Given the description of an element on the screen output the (x, y) to click on. 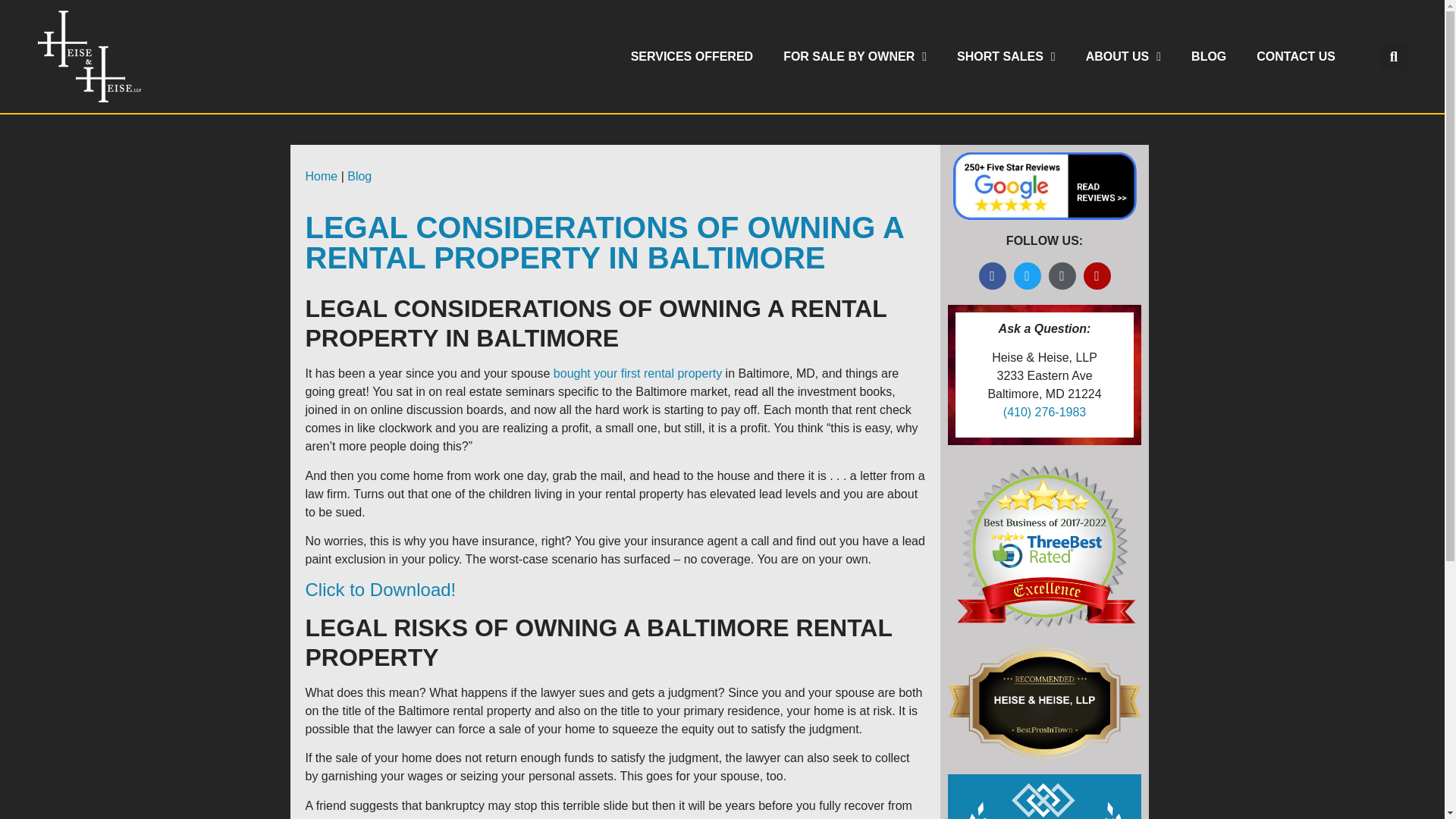
bought your first rental property (637, 373)
Home (320, 175)
FOR SALE BY OWNER (855, 56)
SHORT SALES (1006, 56)
Click to Download! (379, 589)
CONTACT US (1296, 56)
BLOG (1208, 56)
SERVICES OFFERED (691, 56)
Blog (359, 175)
ABOUT US (1123, 56)
